Given the description of an element on the screen output the (x, y) to click on. 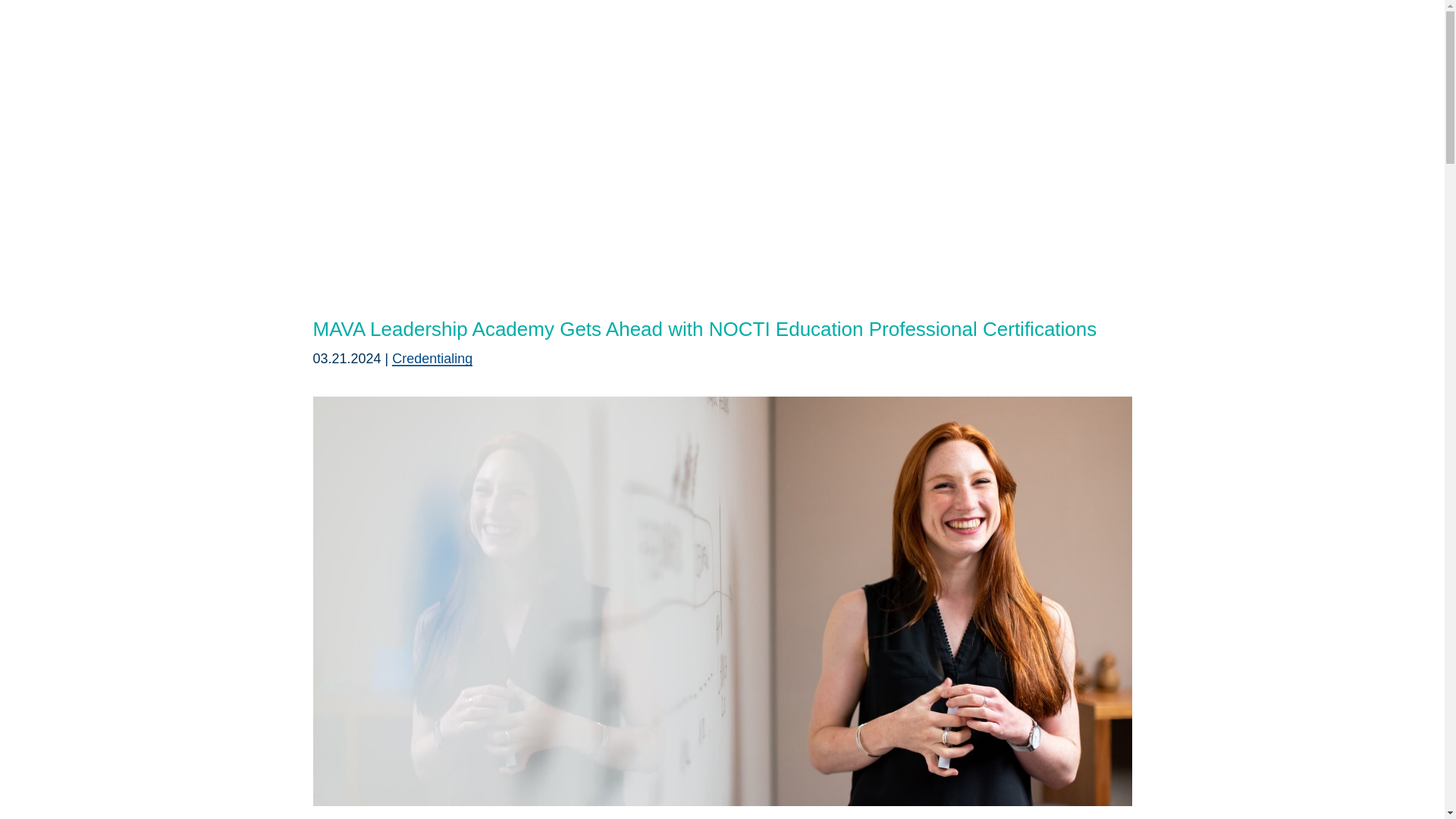
RESOURCES (700, 115)
SERVICES (525, 115)
CREDENTIALS (609, 115)
Credentialing (431, 358)
